Given the description of an element on the screen output the (x, y) to click on. 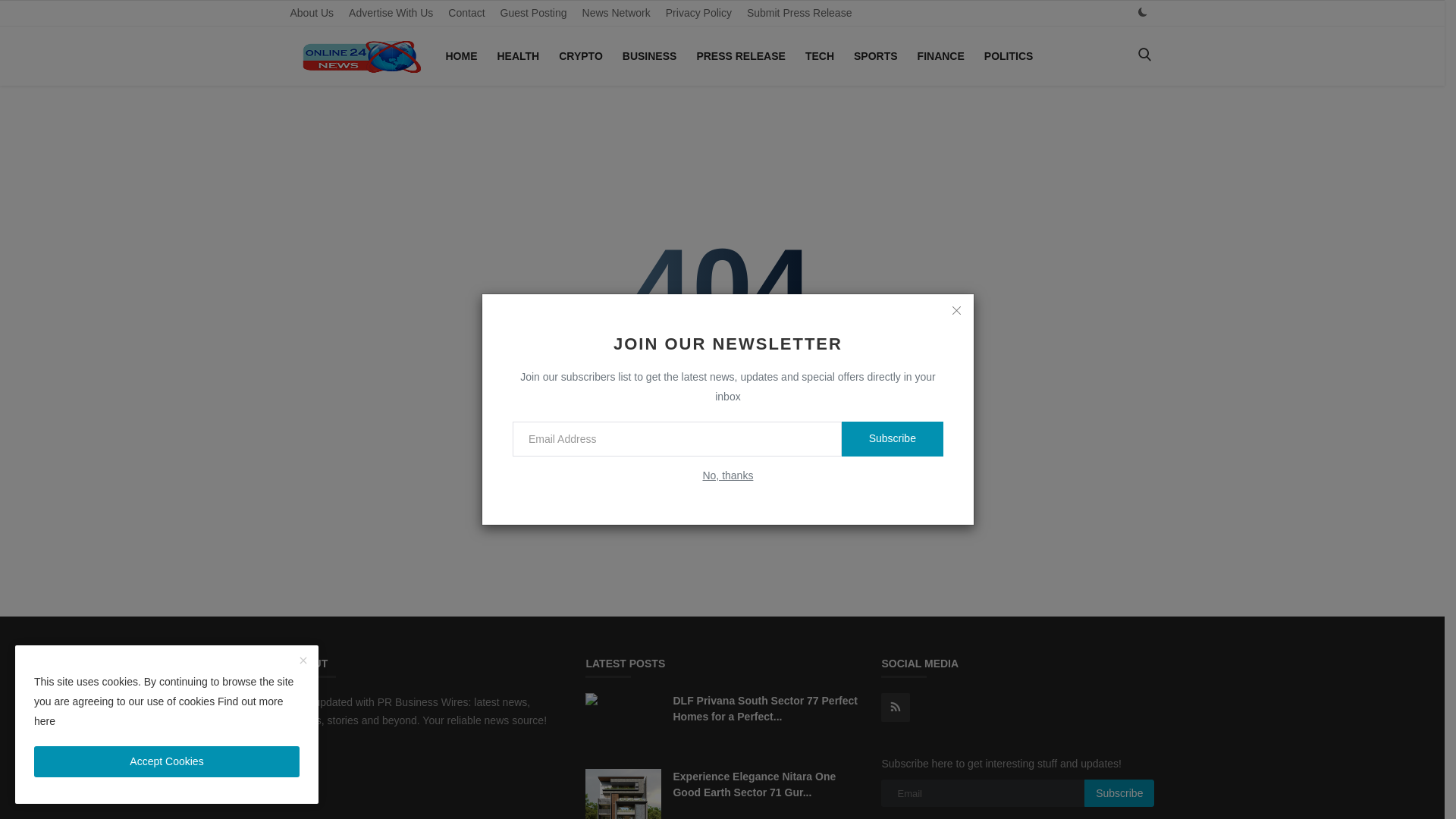
CRYPTO (580, 55)
About Us (311, 13)
Privacy Policy (698, 13)
dark (1141, 12)
Advertise With Us (390, 13)
SPORTS (875, 55)
HEALTH (518, 55)
News Network (616, 13)
PRESS RELEASE (740, 55)
Submit Press Release (799, 13)
BUSINESS (649, 55)
Guest Posting (534, 13)
Contact (466, 13)
POLITICS (1008, 55)
FINANCE (941, 55)
